Given the description of an element on the screen output the (x, y) to click on. 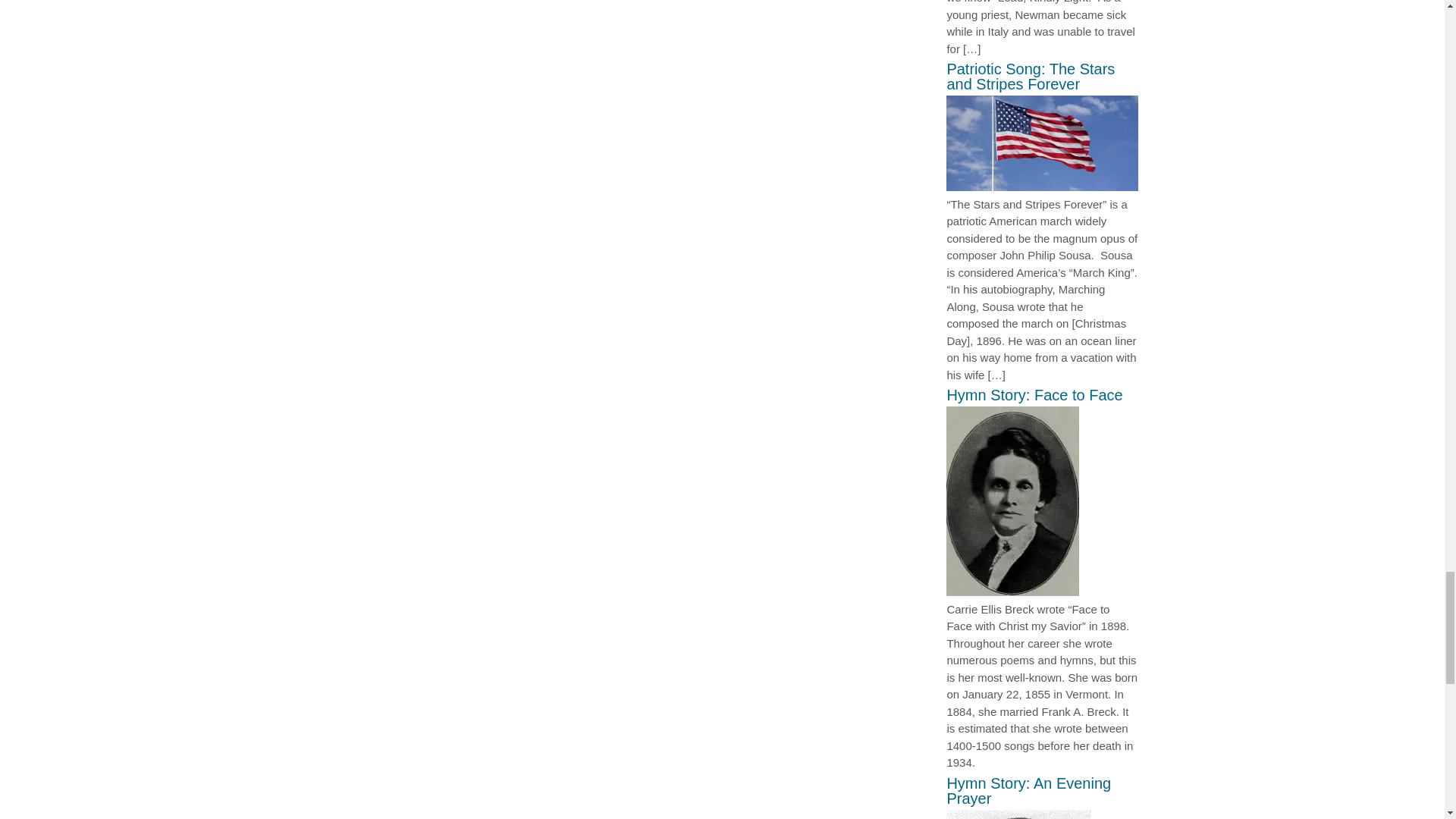
Patriotic Song: The Stars and Stripes Forever (1041, 186)
Hymn Story: Face to Face (1012, 591)
